Given the description of an element on the screen output the (x, y) to click on. 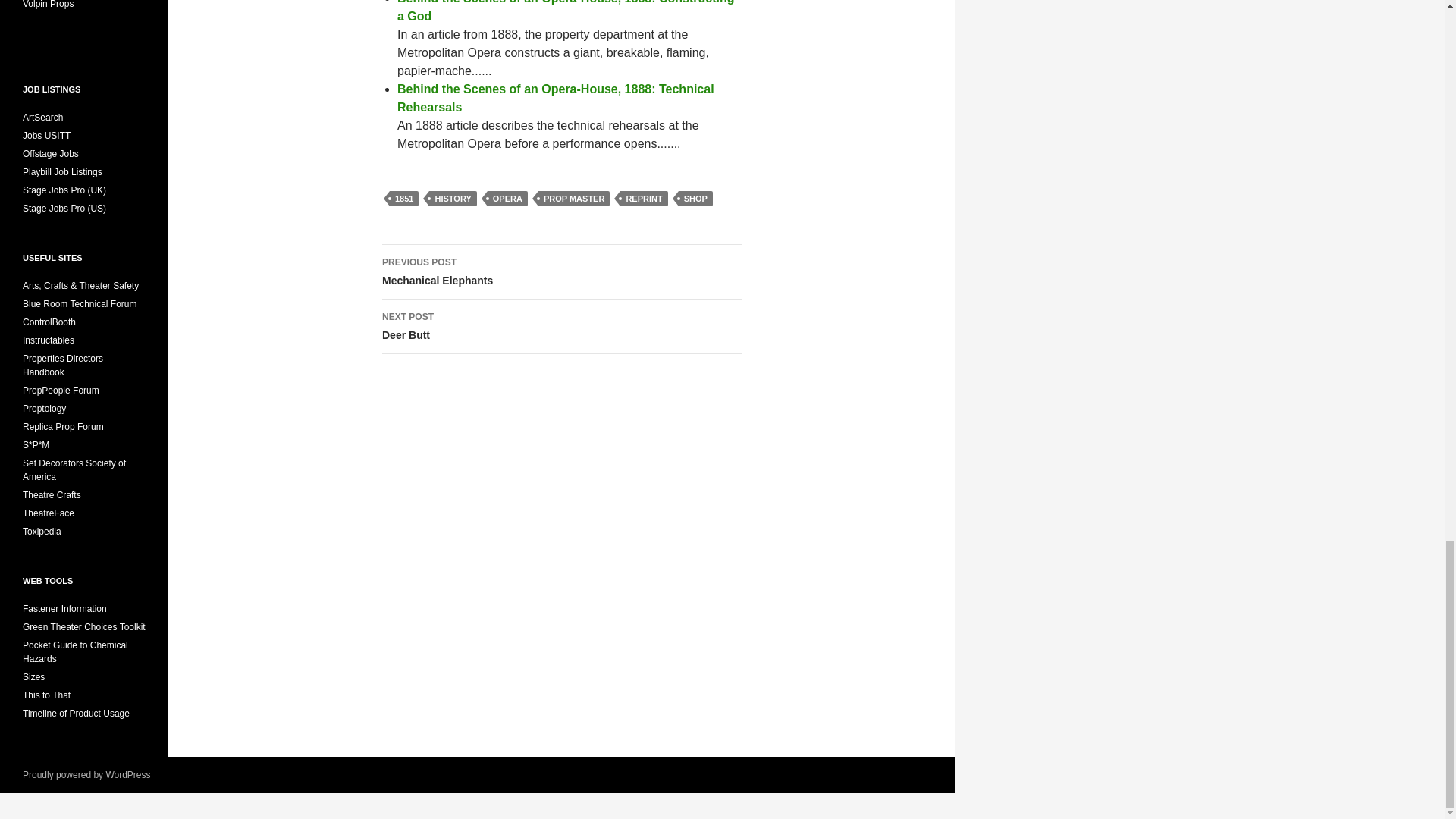
1851 (404, 198)
PROP MASTER (574, 198)
SHOP (695, 198)
REPRINT (561, 271)
HISTORY (561, 326)
OPERA (643, 198)
